Given the description of an element on the screen output the (x, y) to click on. 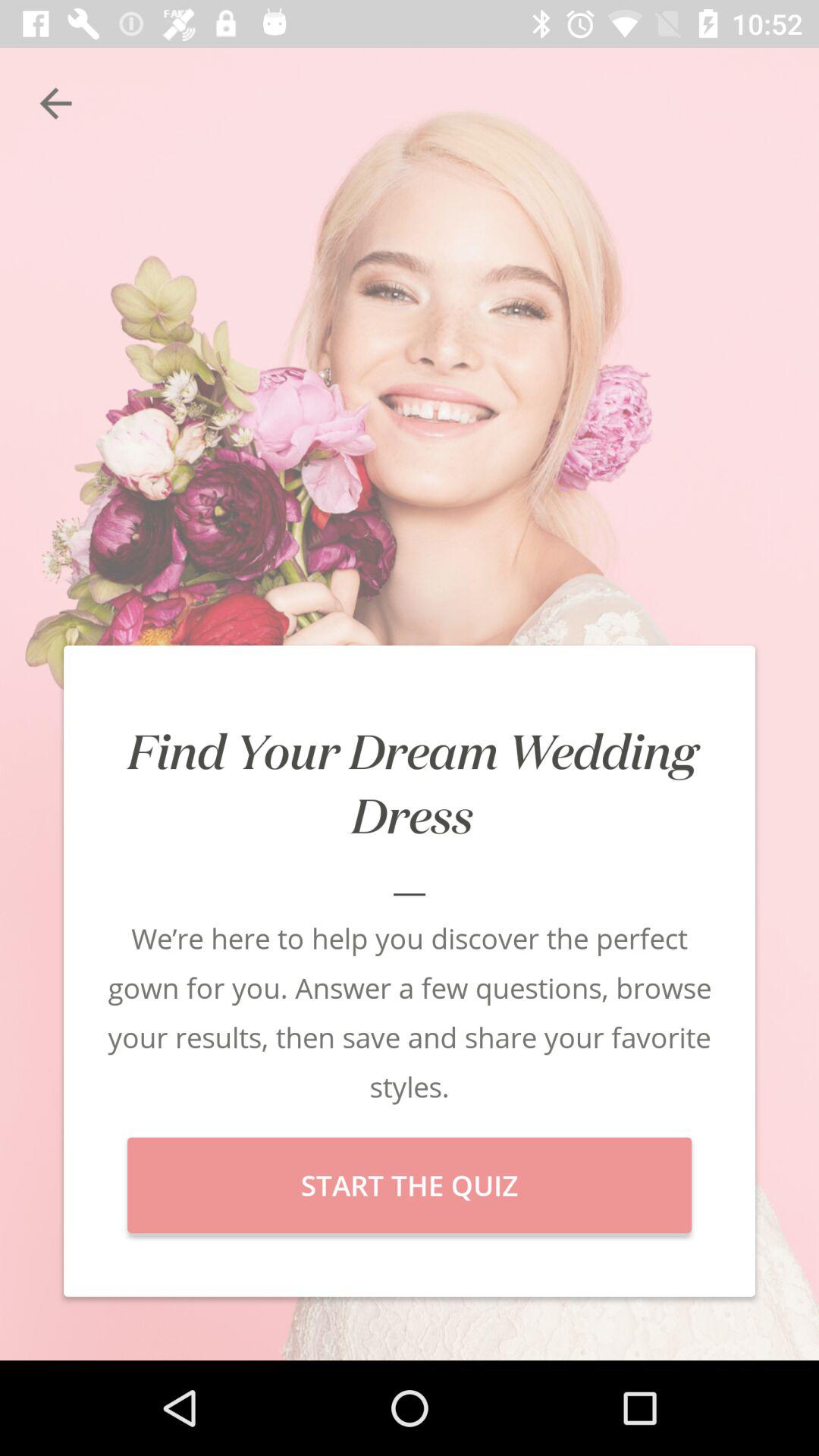
flip until the start the quiz icon (409, 1185)
